Given the description of an element on the screen output the (x, y) to click on. 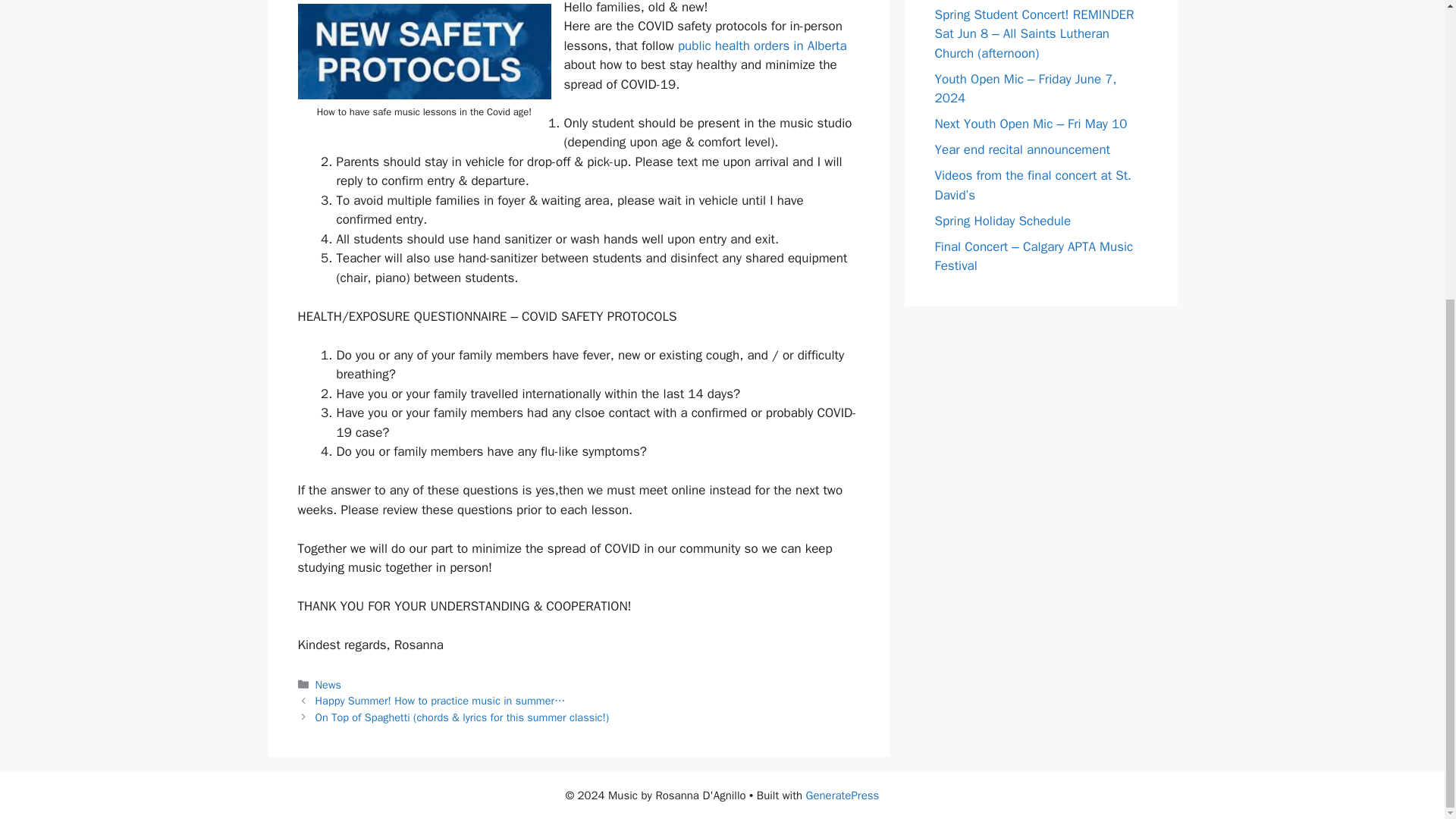
News (327, 684)
GeneratePress (842, 795)
Year end recital announcement (1021, 149)
public health orders in Alberta (762, 45)
Spring Holiday Schedule (1002, 220)
